Given the description of an element on the screen output the (x, y) to click on. 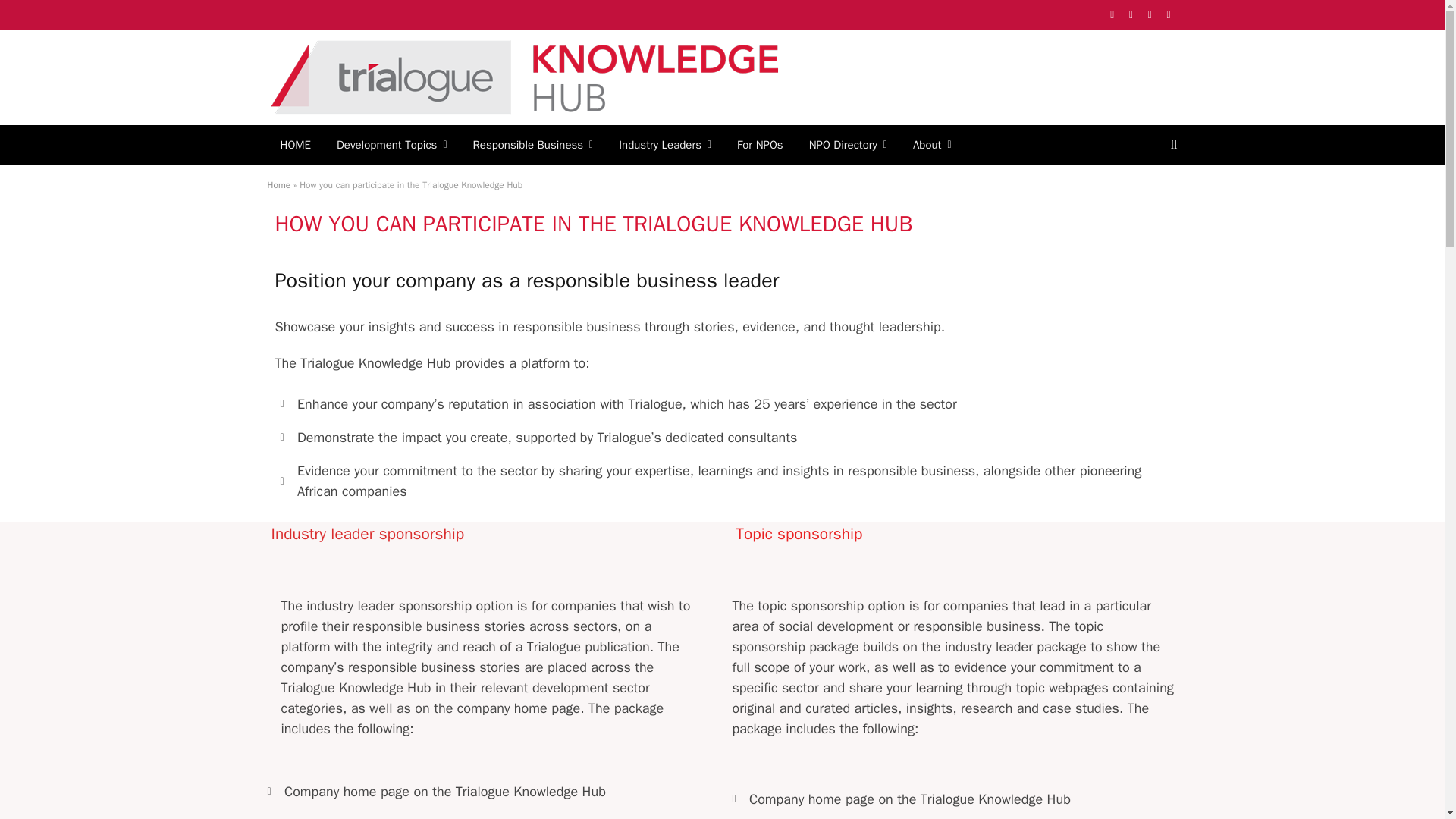
Instagram (1149, 15)
HOME (294, 144)
LinkedIn (1168, 15)
Facebook (1112, 15)
Page 1 (954, 667)
Development Topics (391, 144)
Trialogue Knowledge Hub (522, 76)
Page 1 (488, 667)
Search (1172, 144)
